Given the description of an element on the screen output the (x, y) to click on. 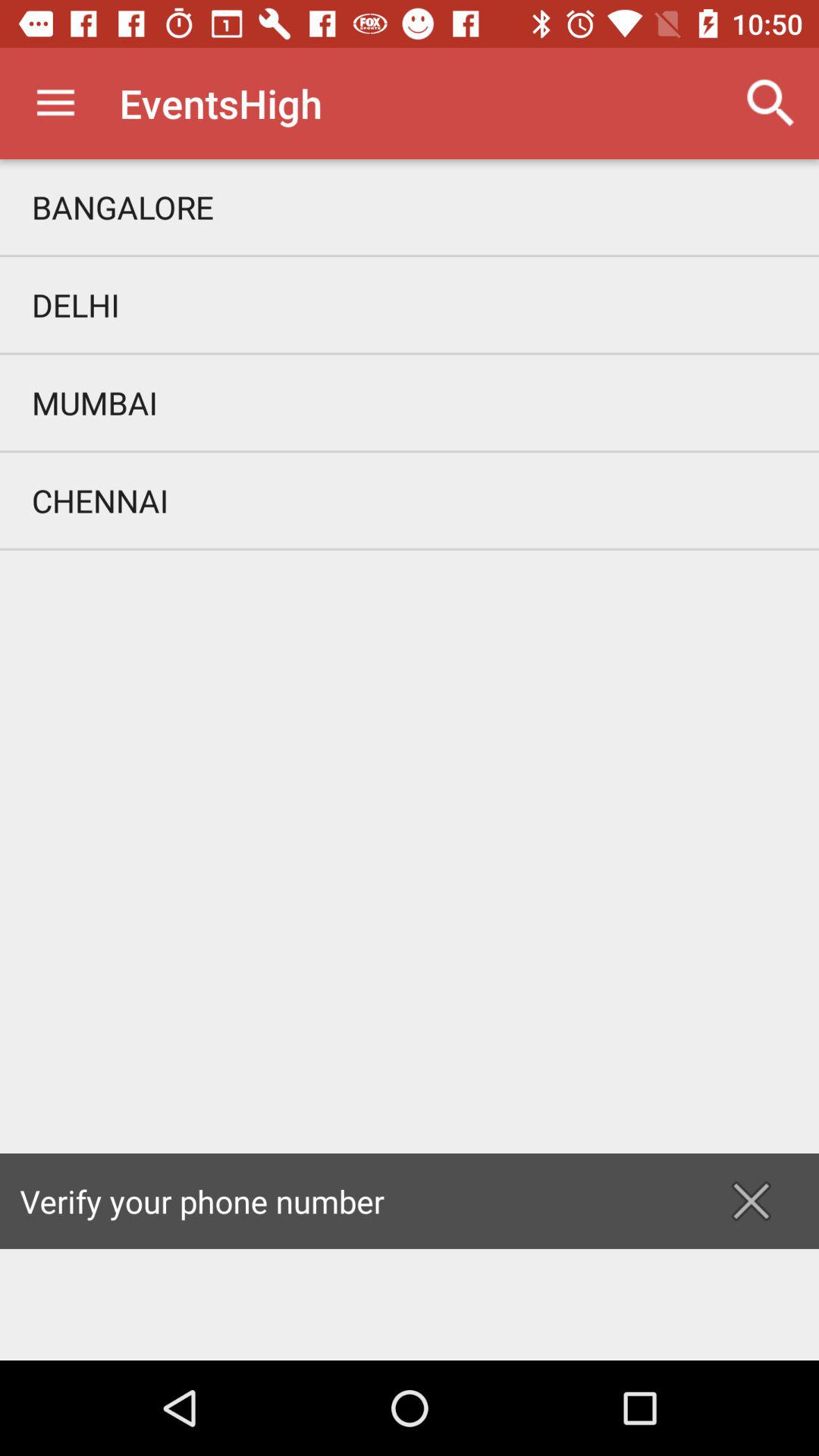
jump to chennai item (409, 500)
